Given the description of an element on the screen output the (x, y) to click on. 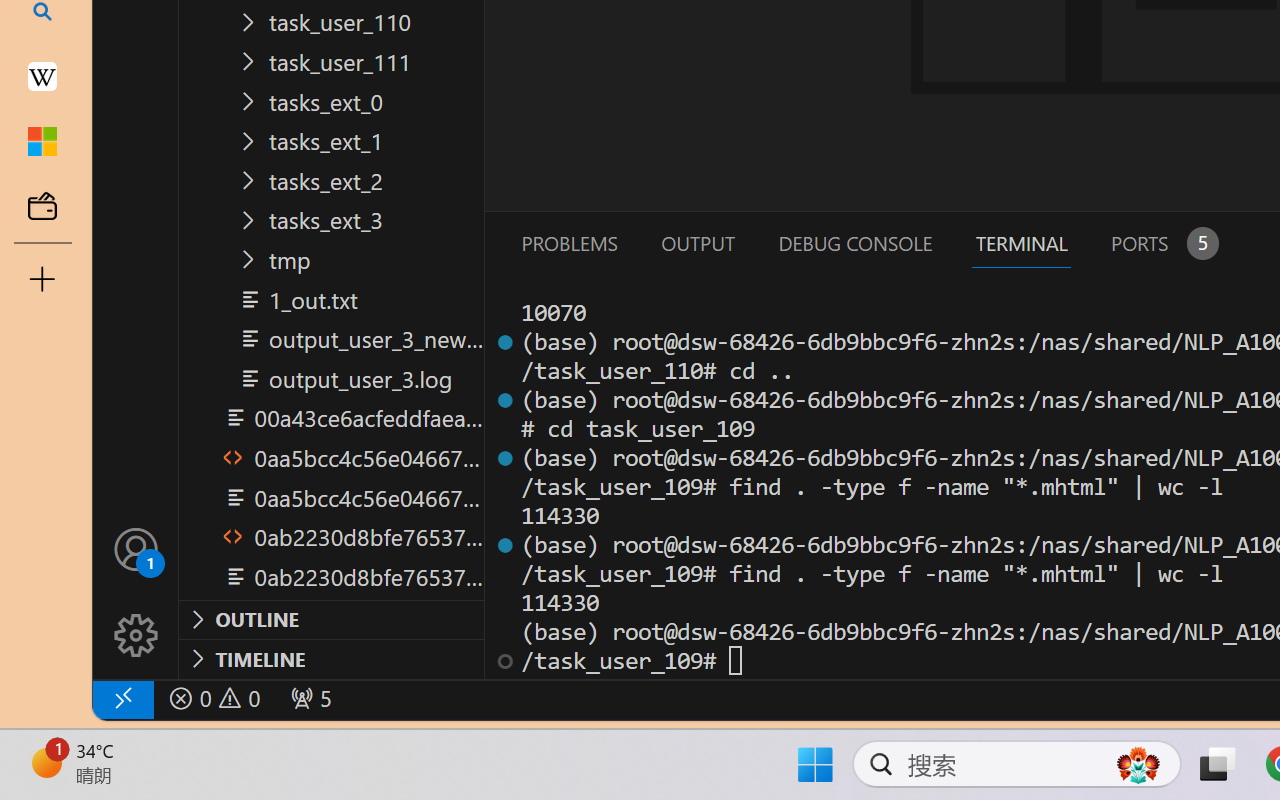
Manage (135, 635)
No Problems (212, 698)
Timeline Section (331, 658)
Accounts - Sign in requested (135, 548)
Debug Console (Ctrl+Shift+Y) (854, 243)
